Given the description of an element on the screen output the (x, y) to click on. 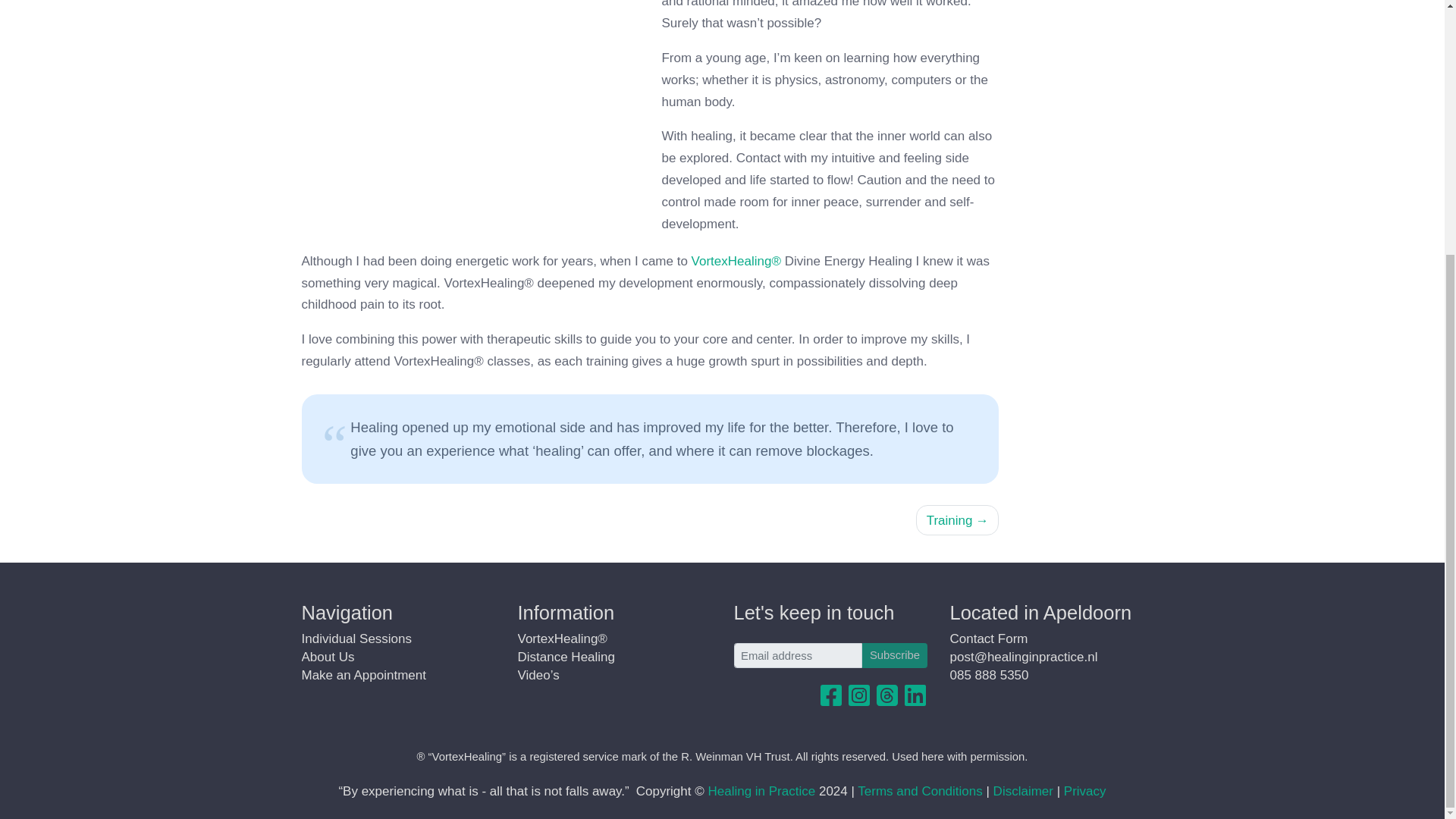
085 888 5350 (988, 675)
Distance Healing (565, 657)
Subscribe (893, 655)
About Us (328, 657)
Terms and Conditions (919, 790)
Individual Sessions (356, 638)
Disclaimer (1022, 790)
Located in Apeldoorn (1040, 612)
Privacy (1085, 790)
Contact Form (988, 638)
